Given the description of an element on the screen output the (x, y) to click on. 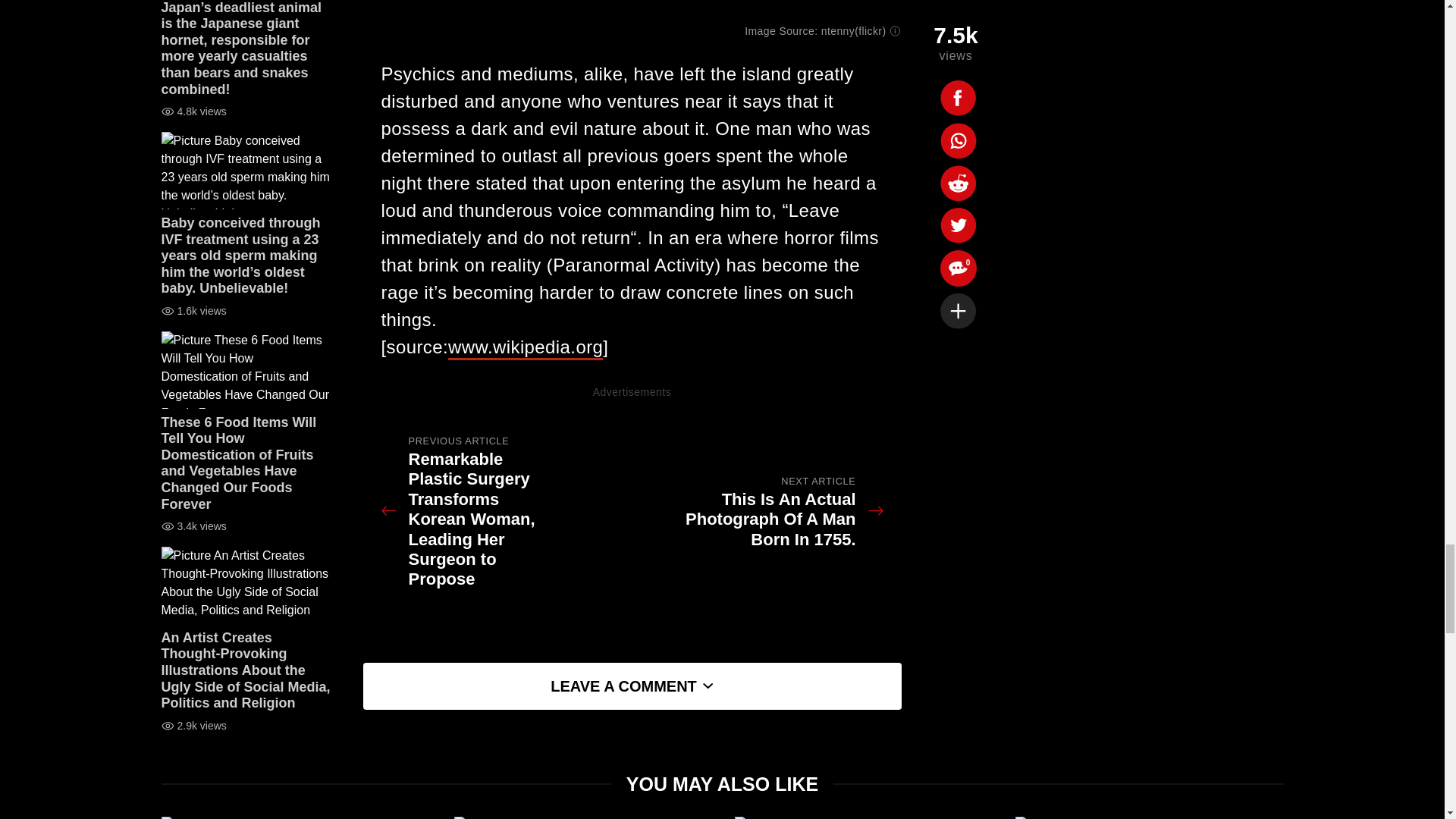
image source (853, 30)
Poveglia island  (631, 10)
image source (525, 346)
